Given the description of an element on the screen output the (x, y) to click on. 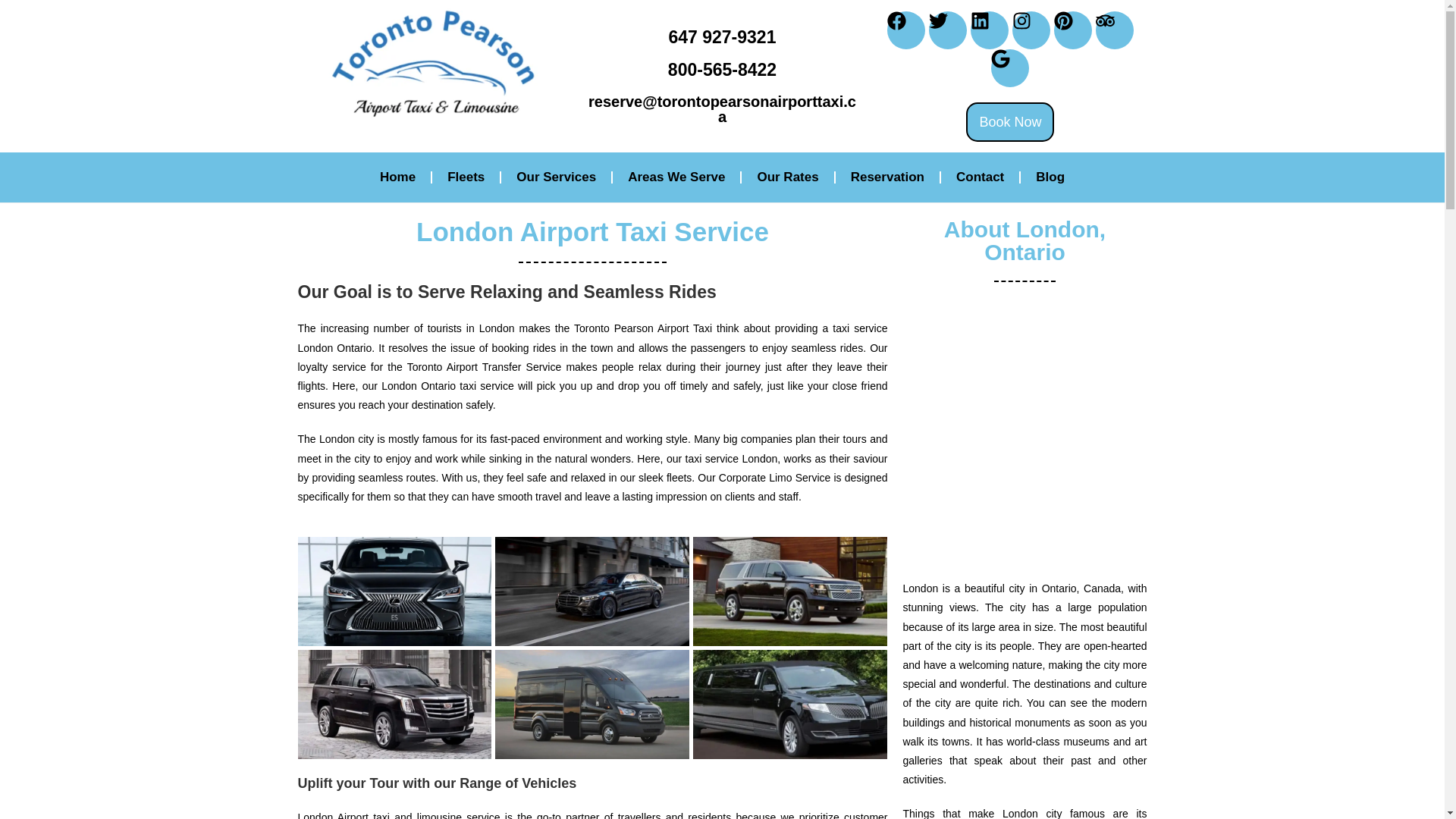
647 927-9321 (722, 36)
800-565-8422 (722, 69)
Our Rates (786, 176)
Contact (979, 176)
Home (397, 176)
London, on (1024, 431)
Blog (1050, 176)
Our Services (555, 176)
Areas We Serve (675, 176)
Fleets (465, 176)
Reservation (887, 176)
Book Now (1010, 121)
